Given the description of an element on the screen output the (x, y) to click on. 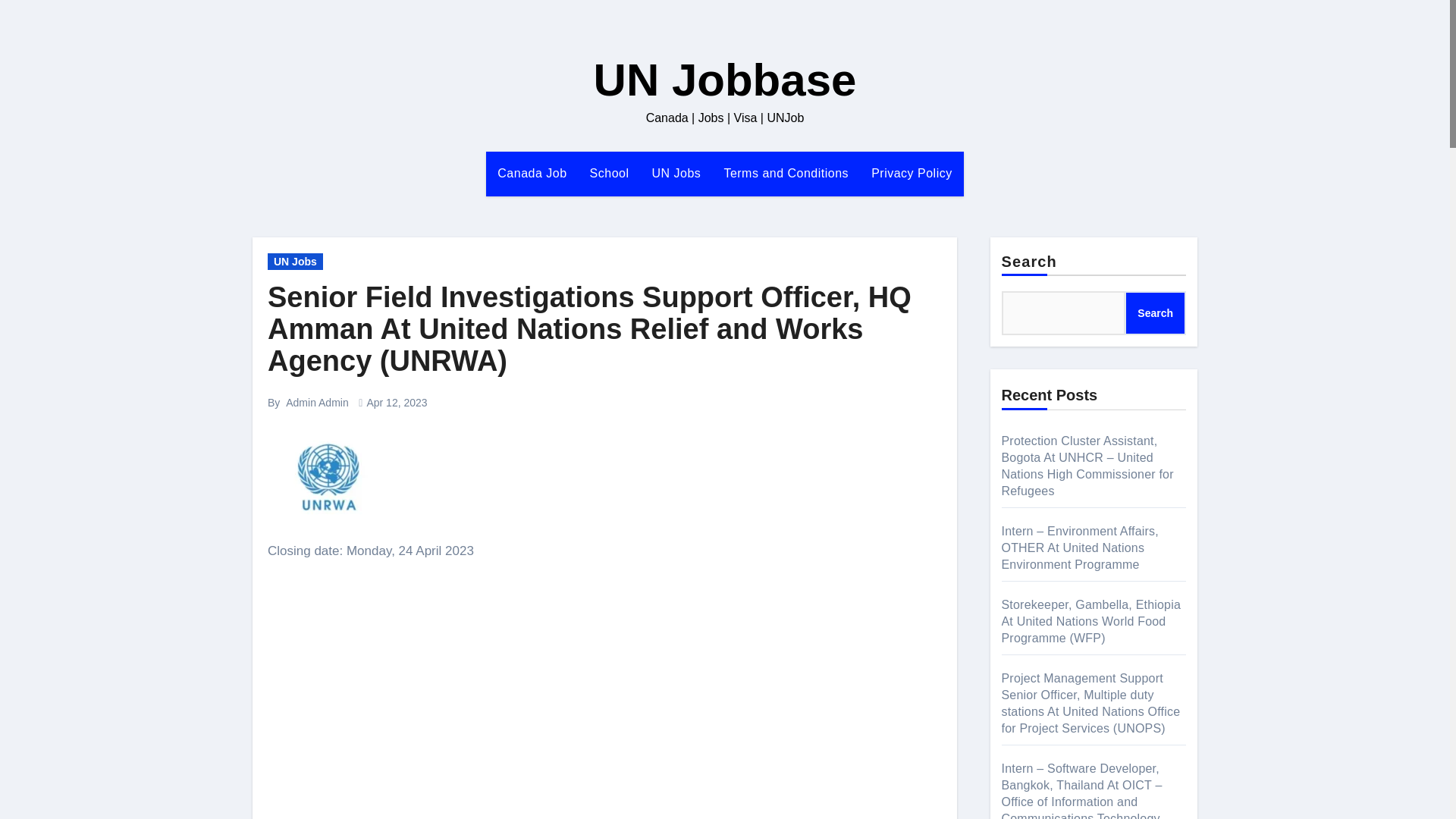
UN Jobbase (725, 79)
Terms and Conditions (785, 173)
Terms and Conditions (785, 173)
School (609, 173)
Canada Job (532, 173)
Privacy Policy (911, 173)
Advertisement (606, 803)
UN Jobs (676, 173)
Admin Admin (316, 402)
